Given the description of an element on the screen output the (x, y) to click on. 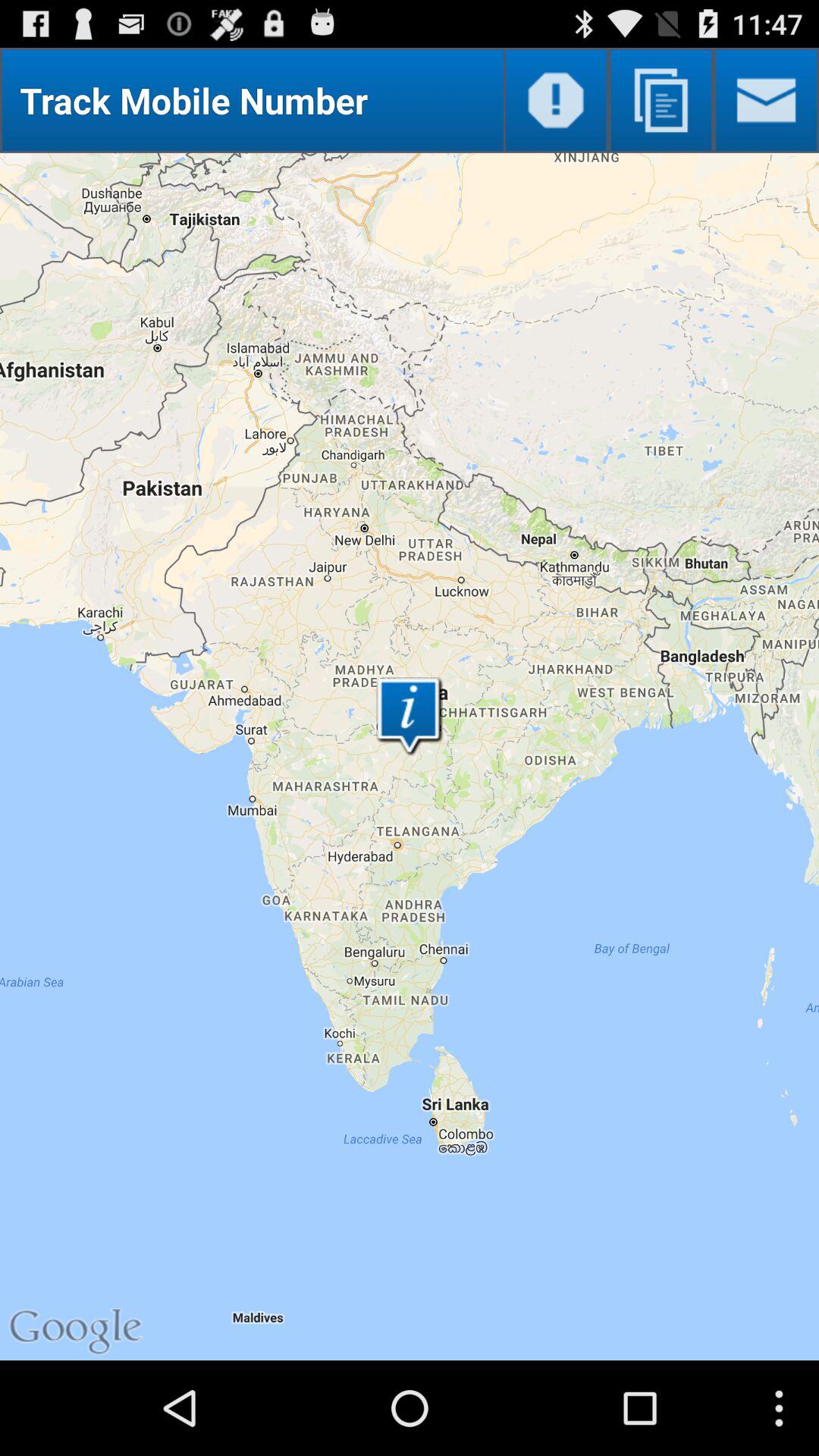
click to stop (555, 99)
